Given the description of an element on the screen output the (x, y) to click on. 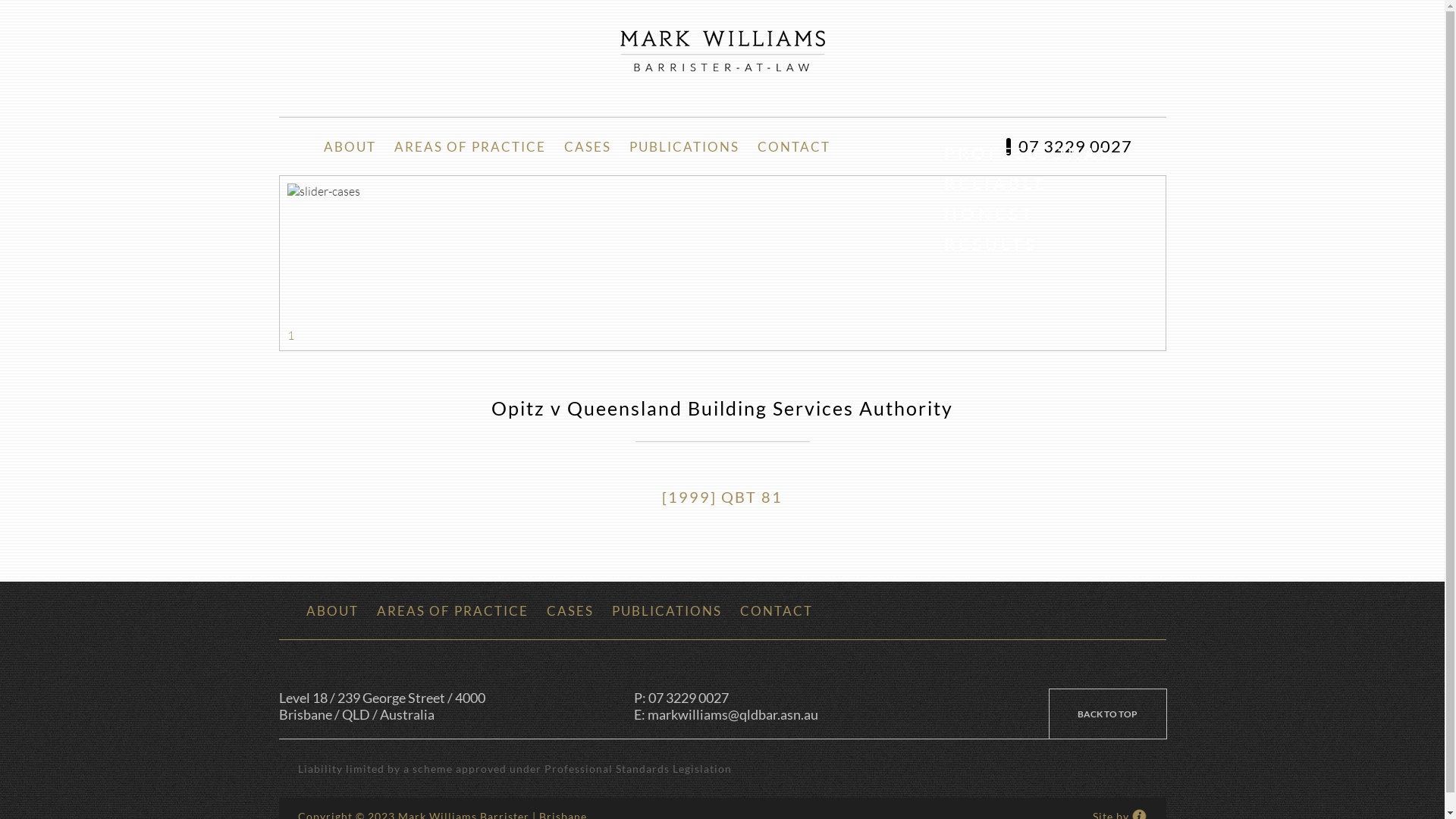
CONTACT Element type: text (792, 145)
PUBLICATIONS Element type: text (684, 145)
Skip to primary navigation Element type: text (0, 0)
CONTACT Element type: text (776, 610)
PUBLICATIONS Element type: text (666, 610)
P: 07 3229 0027 Element type: text (810, 697)
ABOUT Element type: text (332, 610)
1 Element type: text (289, 334)
07 3229 0027 Element type: text (1068, 145)
BACK TO TOP Element type: text (1107, 713)
E: markwilliams@qldbar.asn.au Element type: text (810, 714)
ABOUT Element type: text (348, 145)
AREAS OF PRACTICE Element type: text (470, 145)
AREAS OF PRACTICE Element type: text (451, 610)
Mark Williams Barrister Element type: text (722, 50)
CASES Element type: text (587, 145)
CASES Element type: text (569, 610)
